Given the description of an element on the screen output the (x, y) to click on. 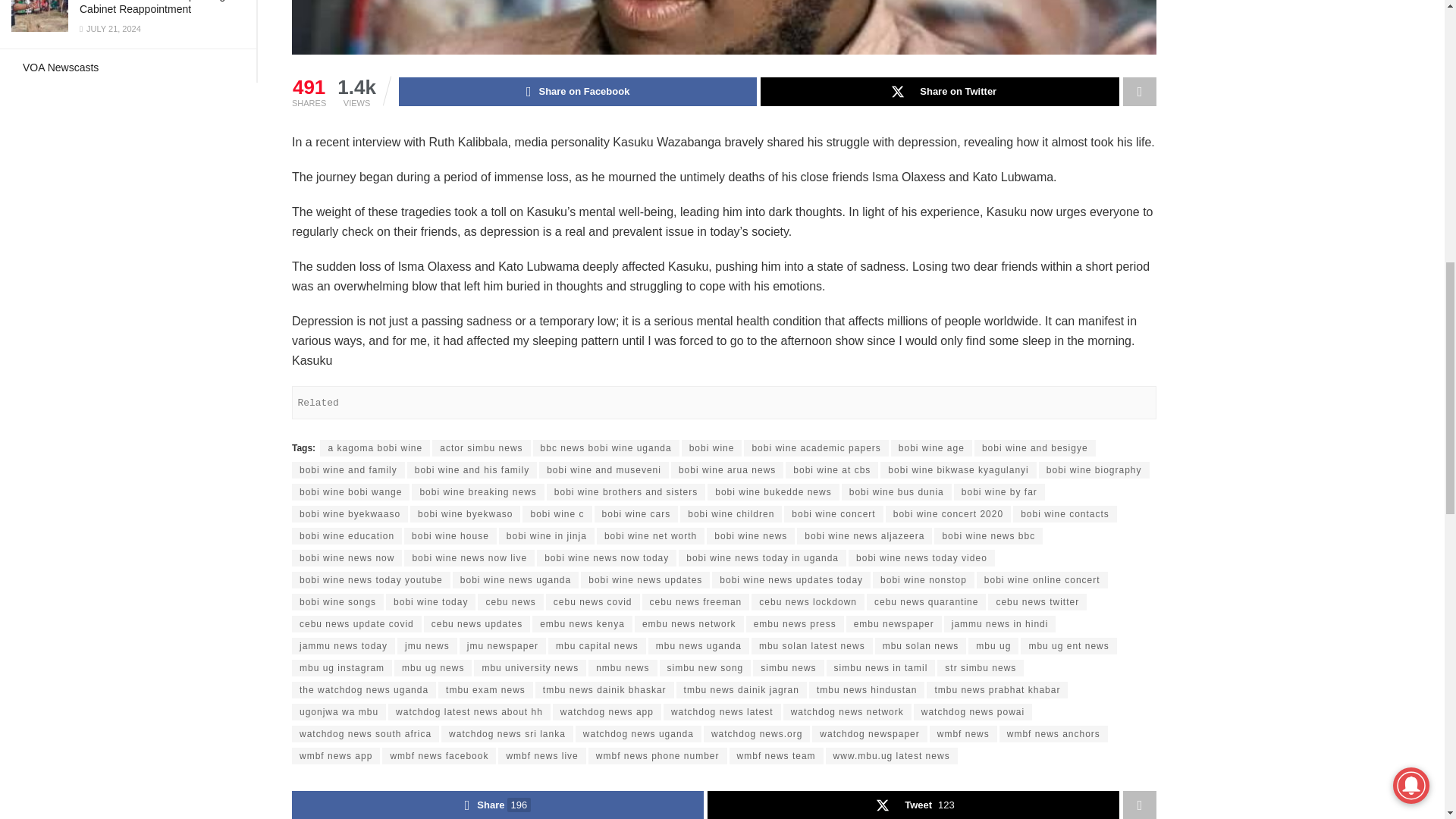
VOA Newscasts (61, 67)
